Given the description of an element on the screen output the (x, y) to click on. 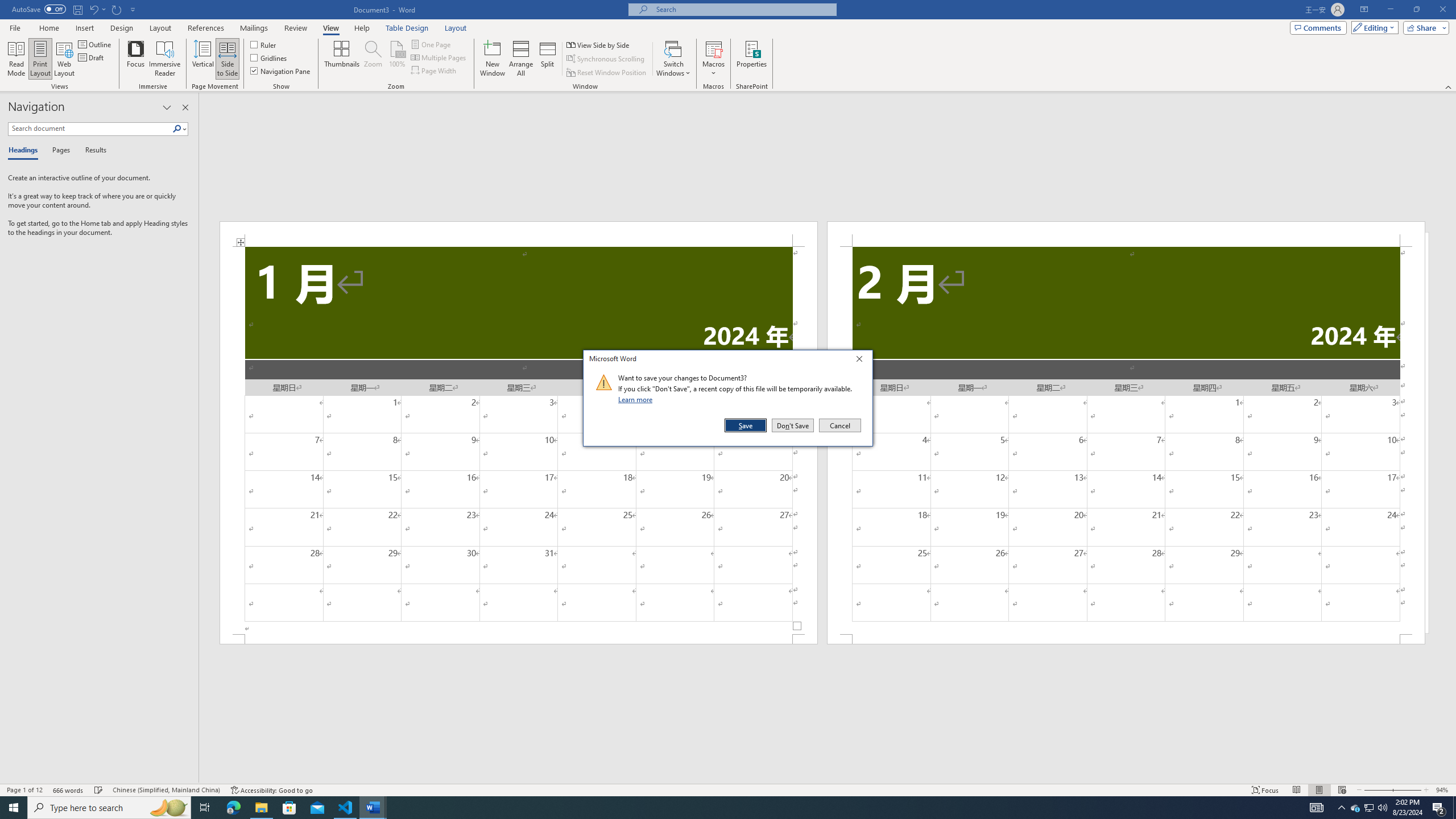
Side to Side (226, 58)
Macros (713, 58)
One Page (431, 44)
Immersive Reader (165, 58)
